Given the description of an element on the screen output the (x, y) to click on. 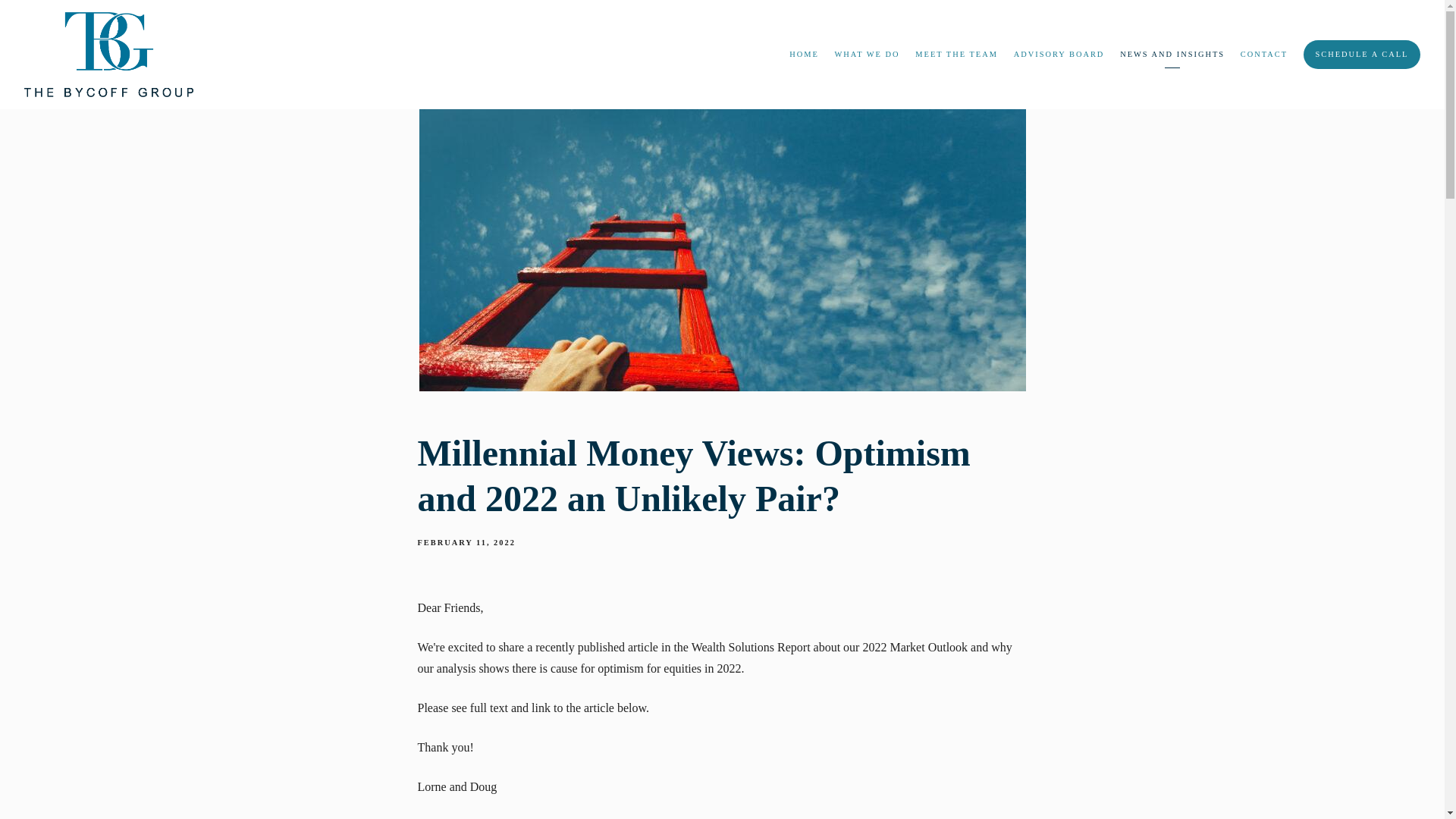
SCHEDULE A CALL (1362, 53)
CONTACT (1263, 55)
ADVISORY BOARD (1059, 55)
WHAT WE DO (866, 55)
NEWS AND INSIGHTS (1171, 55)
MEET THE TEAM (956, 55)
HOME (803, 55)
